Given the description of an element on the screen output the (x, y) to click on. 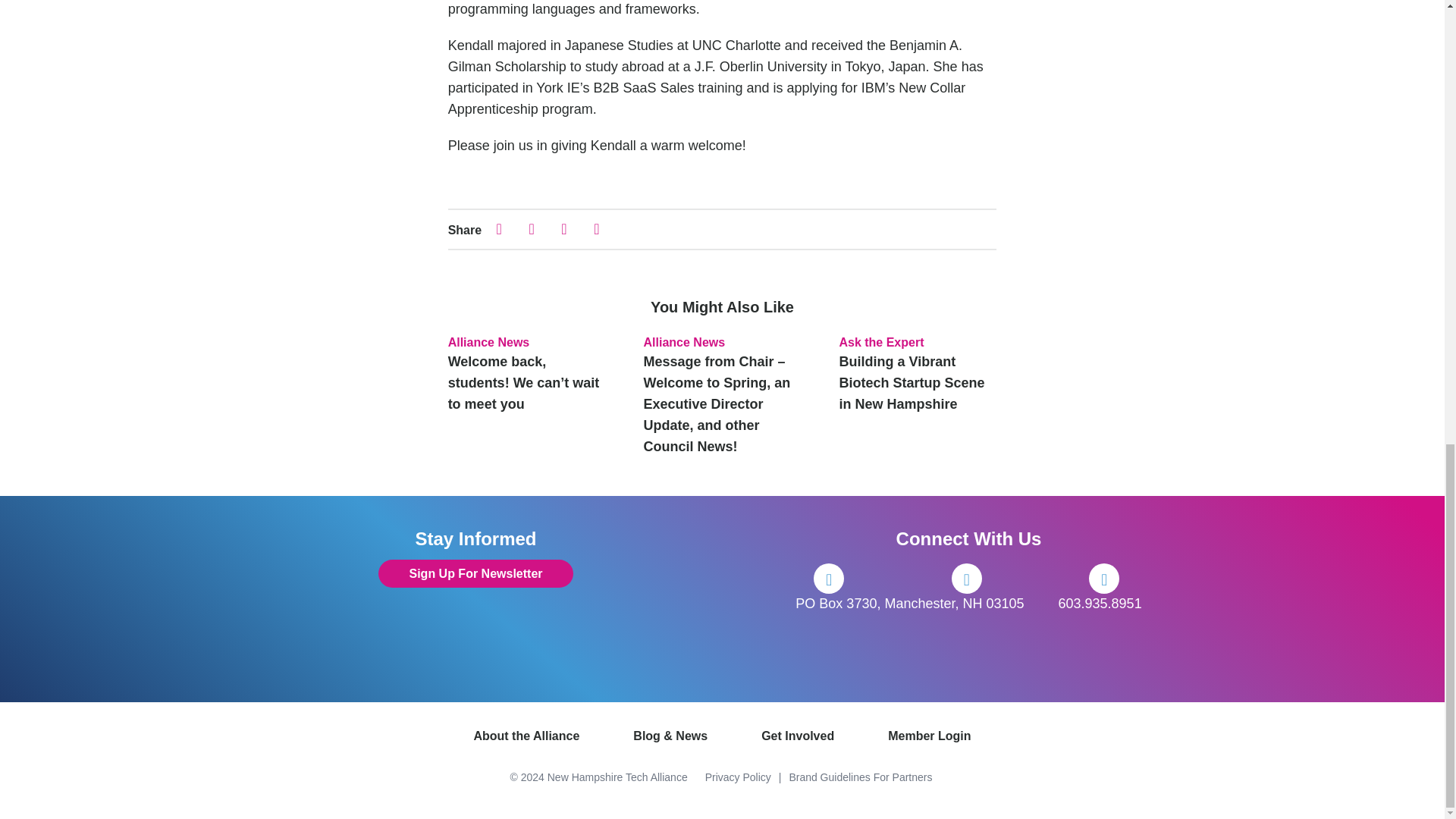
Facebook (828, 578)
LinkedIn (1104, 578)
Twitter (966, 578)
